Given the description of an element on the screen output the (x, y) to click on. 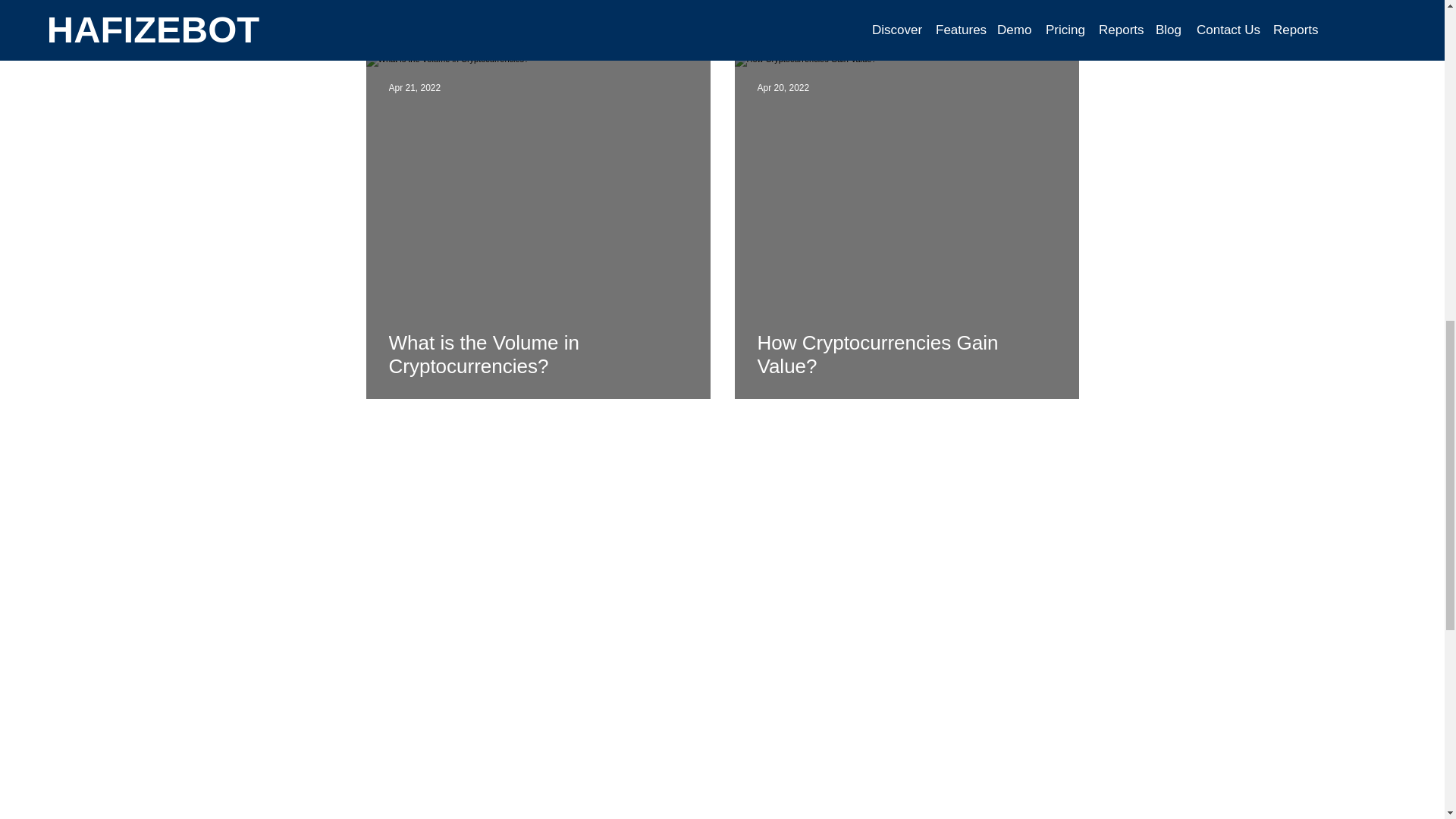
Apr 20, 2022 (783, 87)
Apr 21, 2022 (414, 87)
3 Reasons to Use Cryptocurrency (537, 4)
What is a Merkle Tree? (906, 4)
How Cryptocurrencies Gain Value? (906, 354)
What is the Volume in Cryptocurrencies? (537, 354)
